Given the description of an element on the screen output the (x, y) to click on. 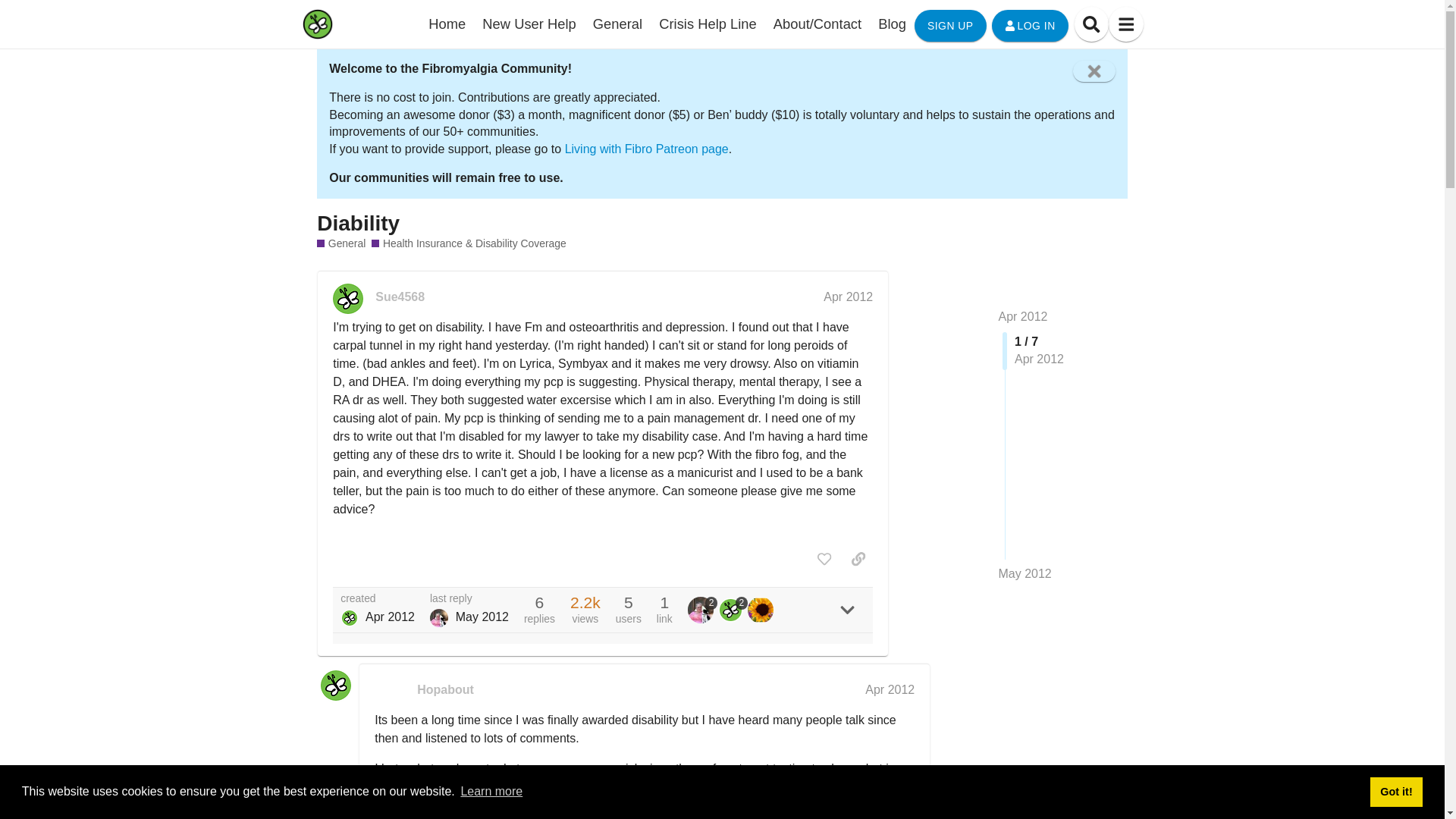
expand topic details (847, 610)
Learn more (491, 791)
like this post (823, 558)
Apr 17, 2012 11:42 pm (389, 616)
Hopabout (445, 689)
Got it! (1396, 791)
Living with Fibro Patreon page (646, 148)
2 (732, 609)
Post date (848, 296)
Apr 2012 (889, 689)
May 2012 (1024, 573)
Blog (891, 23)
Jump to the last post (1024, 573)
Sue4568 (349, 618)
Jump to the first post (1021, 316)
